Given the description of an element on the screen output the (x, y) to click on. 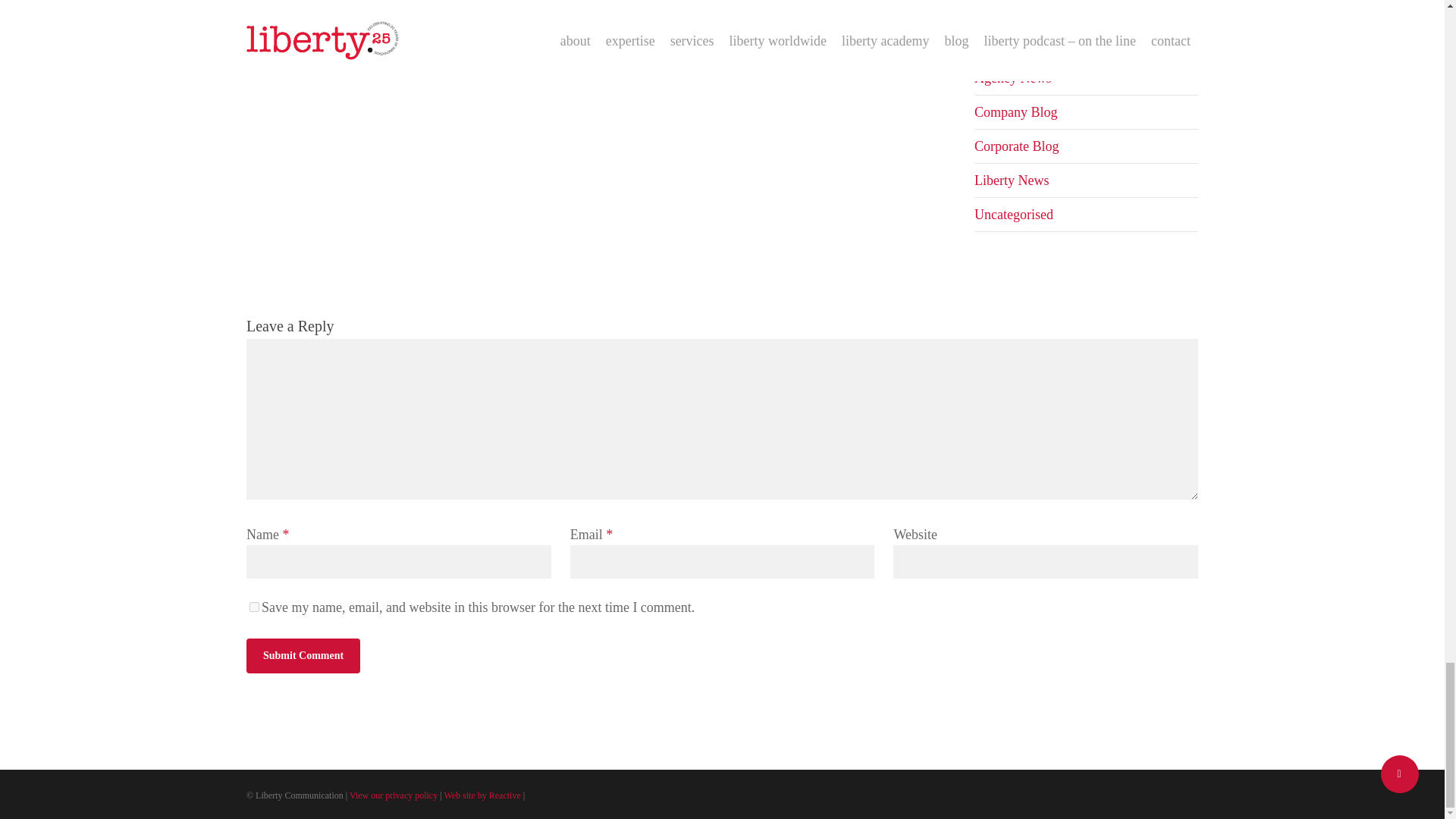
Submit Comment (302, 655)
yes (253, 606)
